Given the description of an element on the screen output the (x, y) to click on. 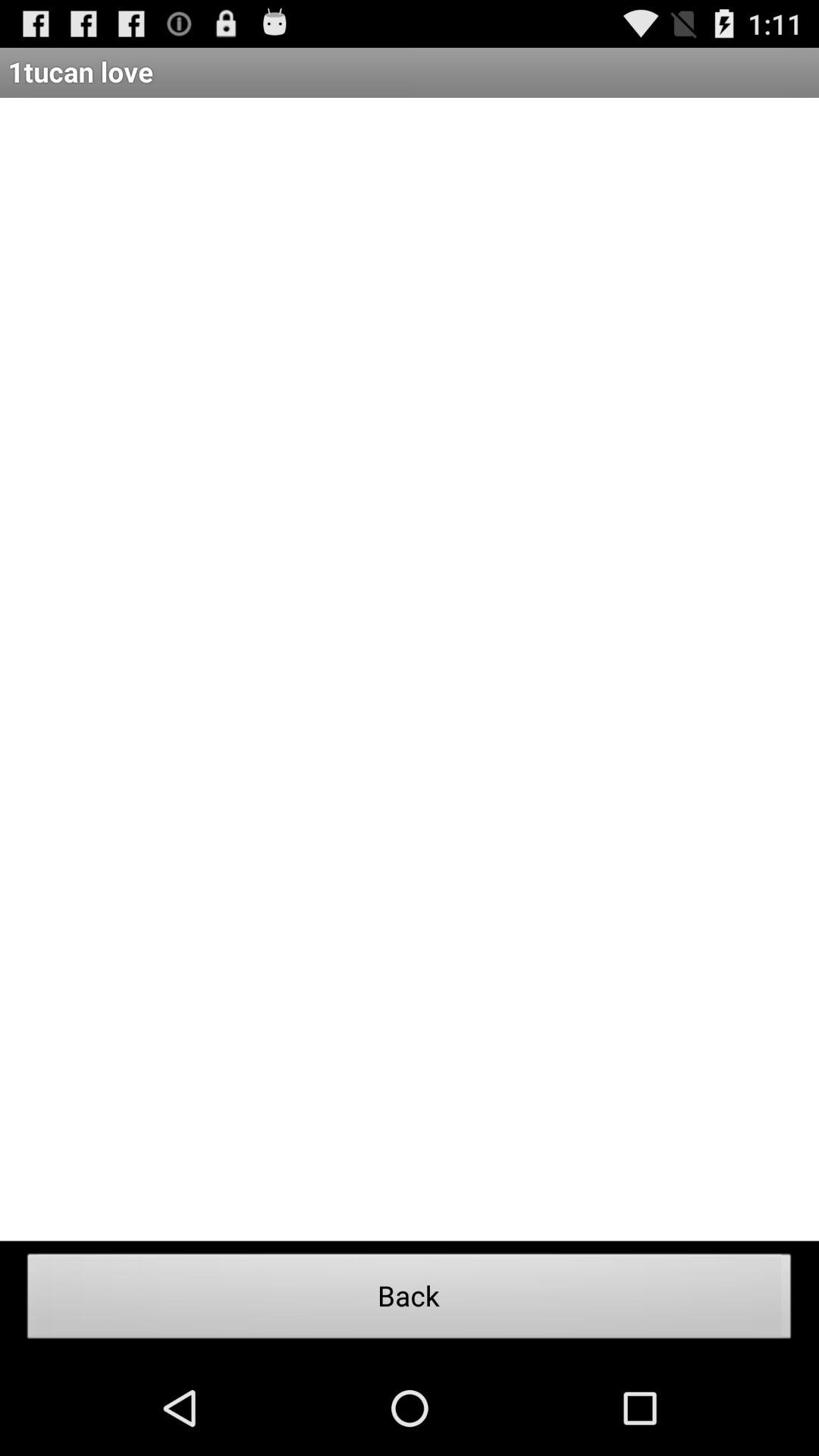
press app below 1tucan love item (409, 669)
